Given the description of an element on the screen output the (x, y) to click on. 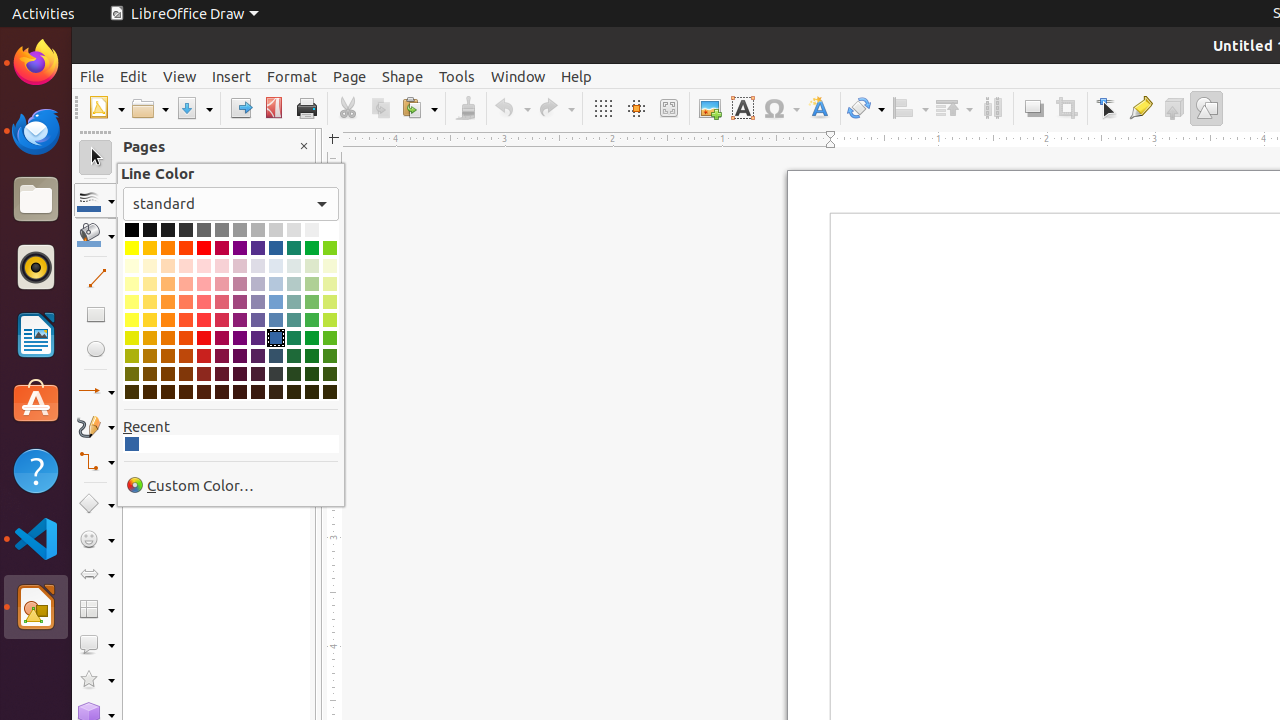
Light Purple 1 Element type: list-item (240, 320)
Paste Element type: push-button (419, 108)
Dark Purple 1 Element type: list-item (240, 338)
Star Shapes Element type: push-button (96, 679)
Light Yellow 3 Element type: list-item (132, 284)
